Given the description of an element on the screen output the (x, y) to click on. 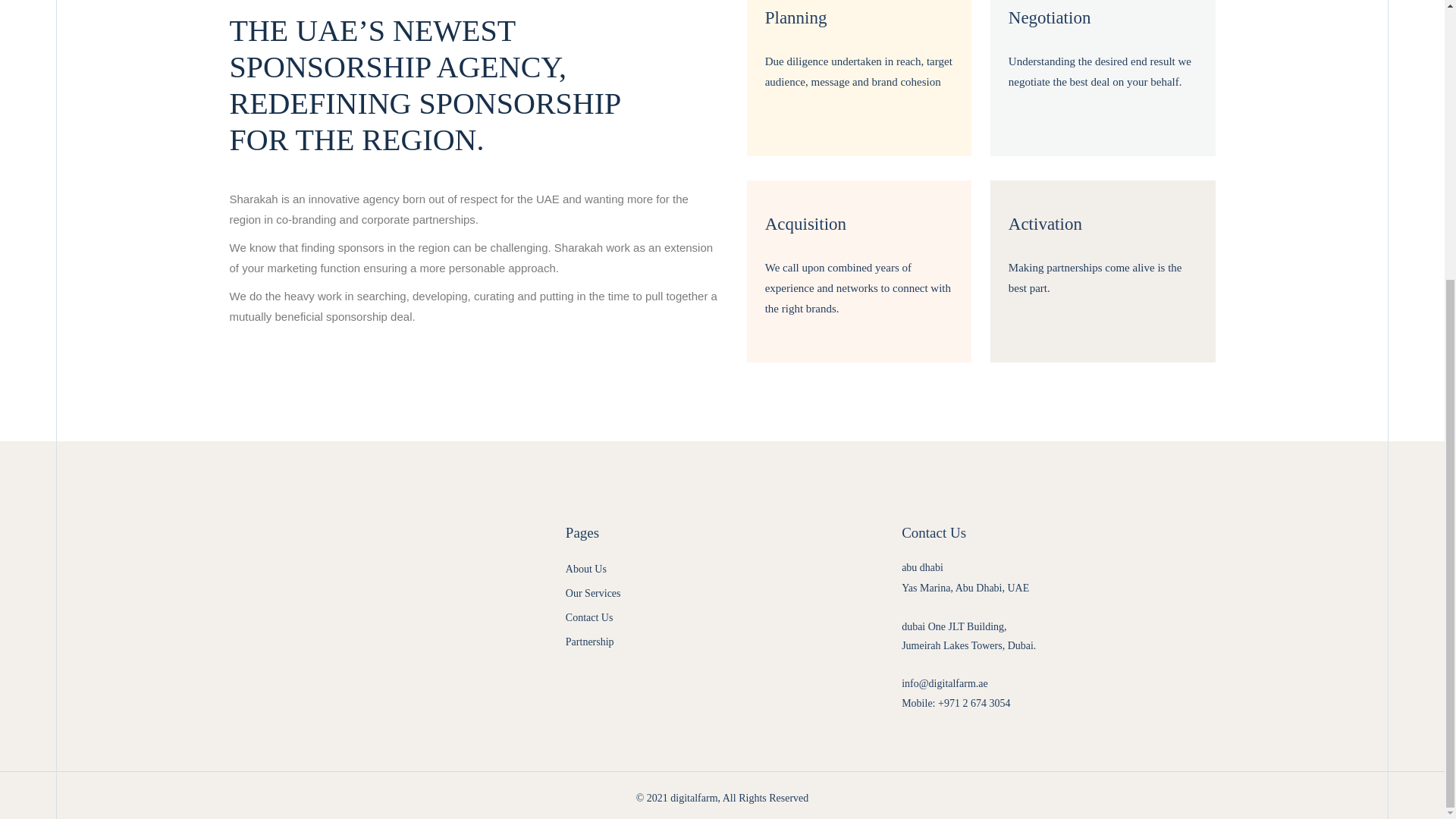
About Us (965, 577)
Partnership (586, 568)
digitalfarm (590, 641)
Our Services (693, 797)
Contact Us (968, 635)
